Given the description of an element on the screen output the (x, y) to click on. 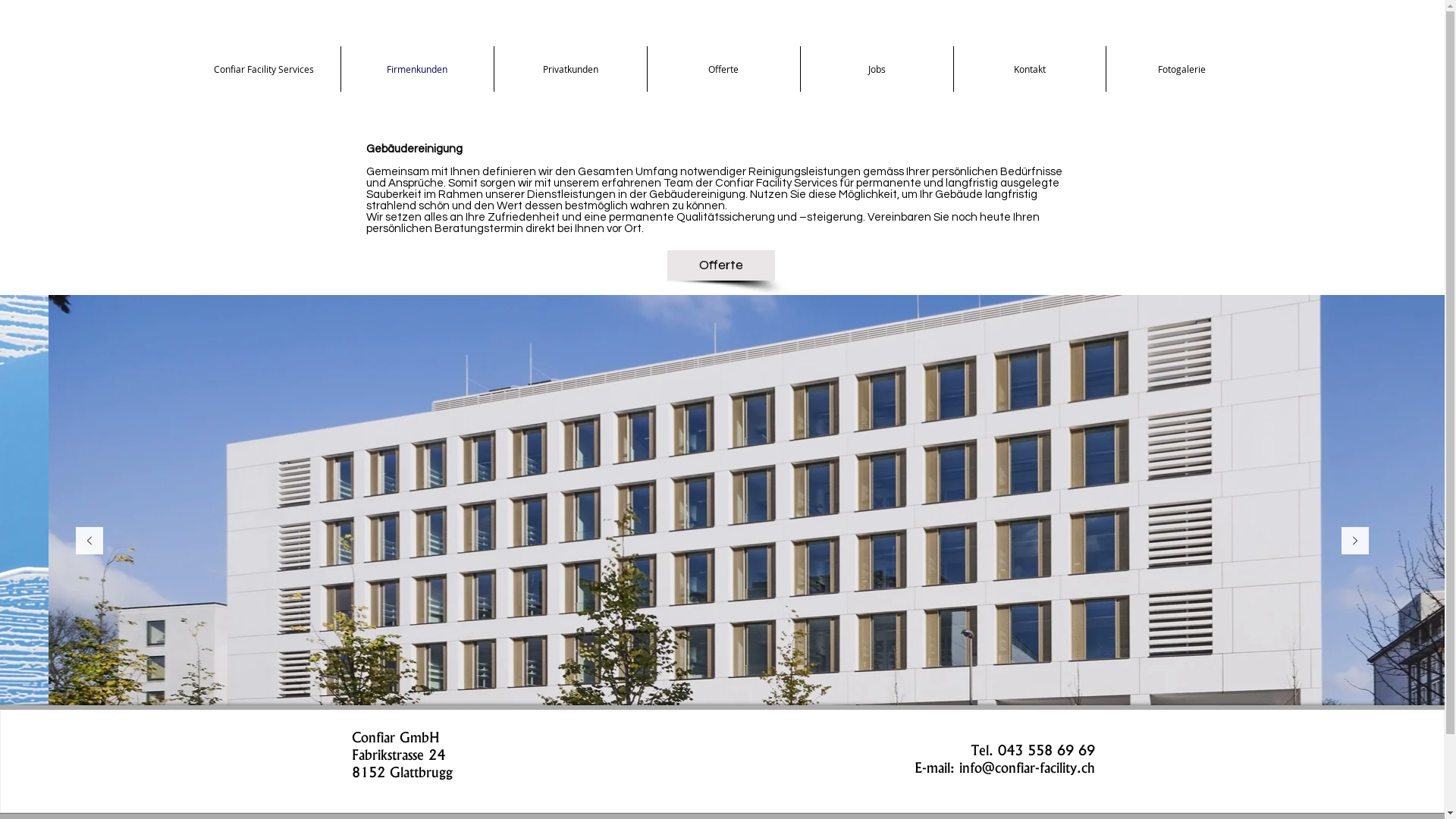
Firmenkunden Element type: text (417, 68)
Offerte Element type: text (723, 68)
Jobs Element type: text (876, 68)
Privatkunden Element type: text (570, 68)
Offerte Element type: text (721, 265)
Confiar Facility Services Element type: text (262, 68)
info@confiar-facility.ch Element type: text (1026, 767)
Fotogalerie Element type: text (1181, 68)
Kontakt Element type: text (1029, 68)
